Given the description of an element on the screen output the (x, y) to click on. 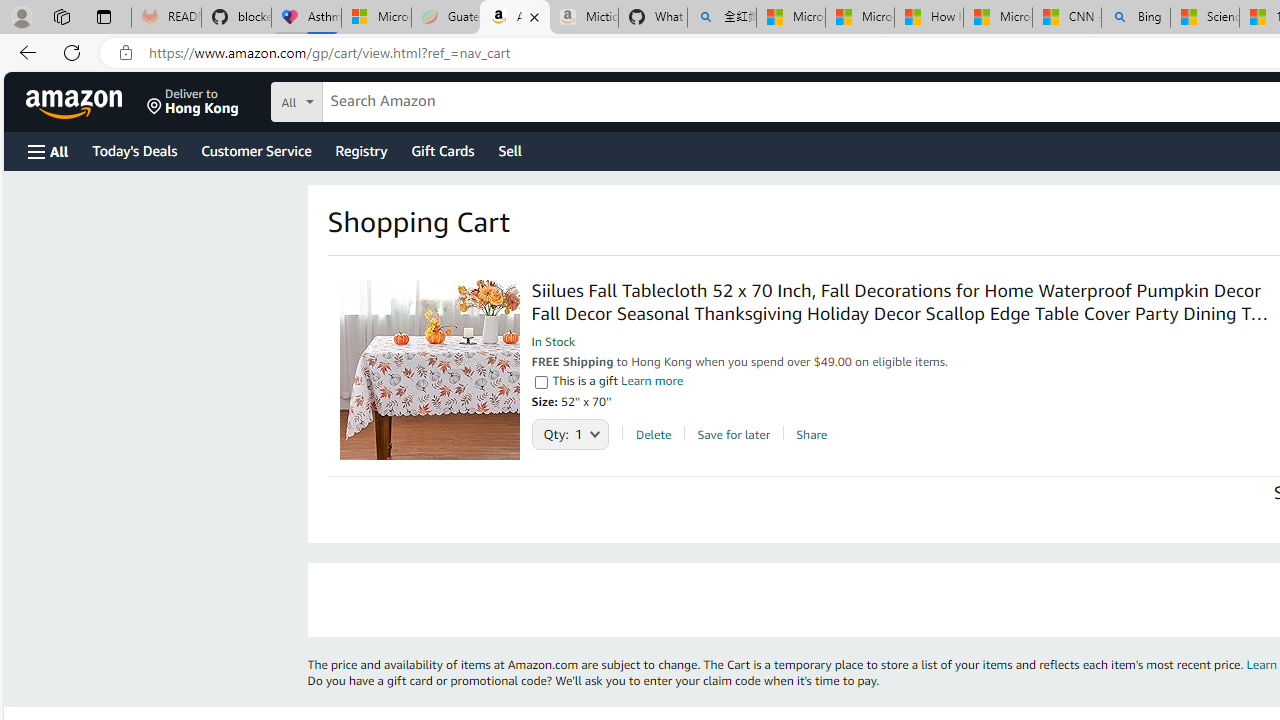
Registry (360, 150)
Search in (371, 99)
Deliver to Hong Kong (193, 101)
Customer Service (256, 150)
